Given the description of an element on the screen output the (x, y) to click on. 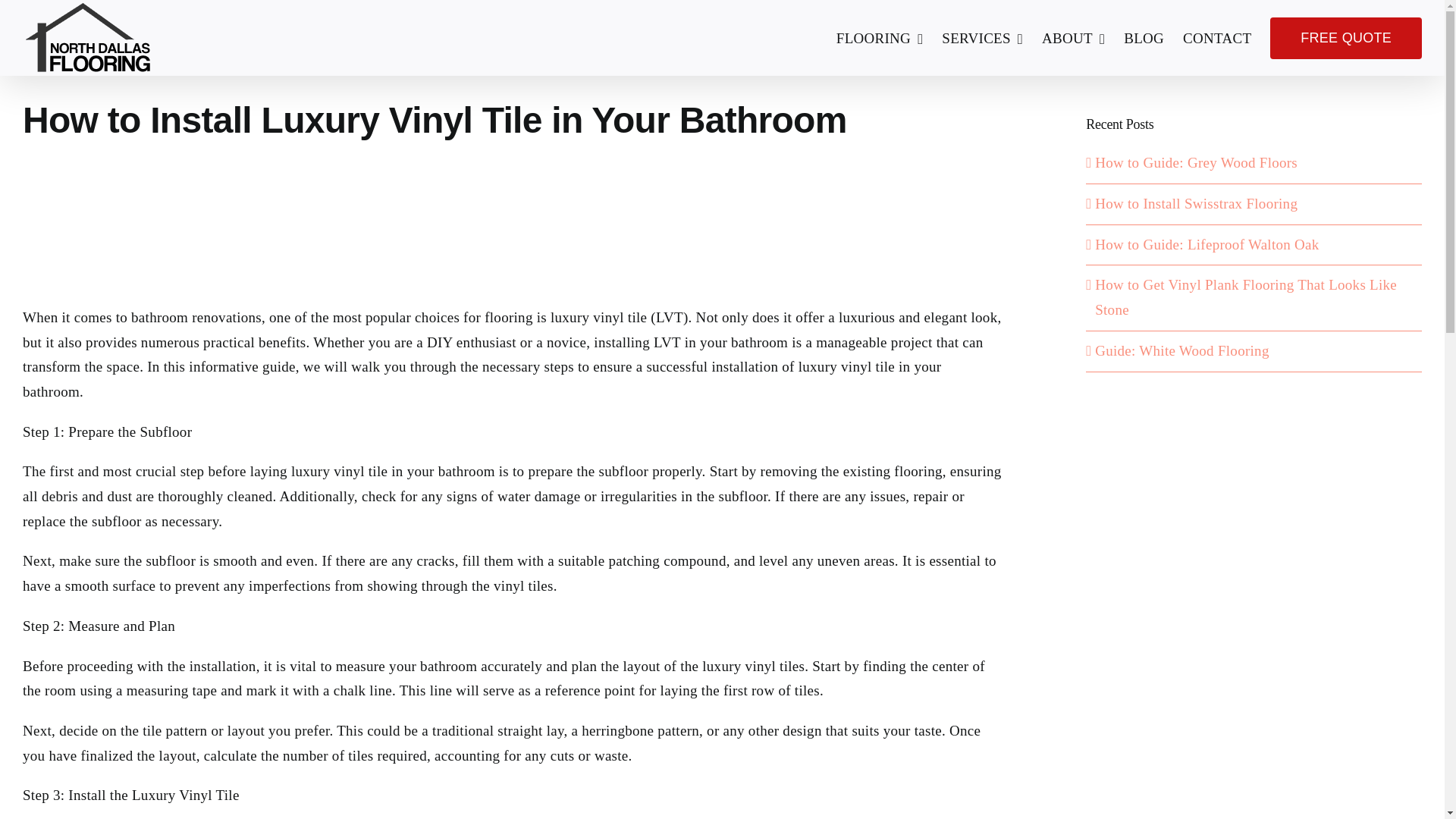
CONTACT (1216, 38)
FREE QUOTE (1345, 38)
FLOORING (879, 38)
SERVICES (982, 38)
